Given the description of an element on the screen output the (x, y) to click on. 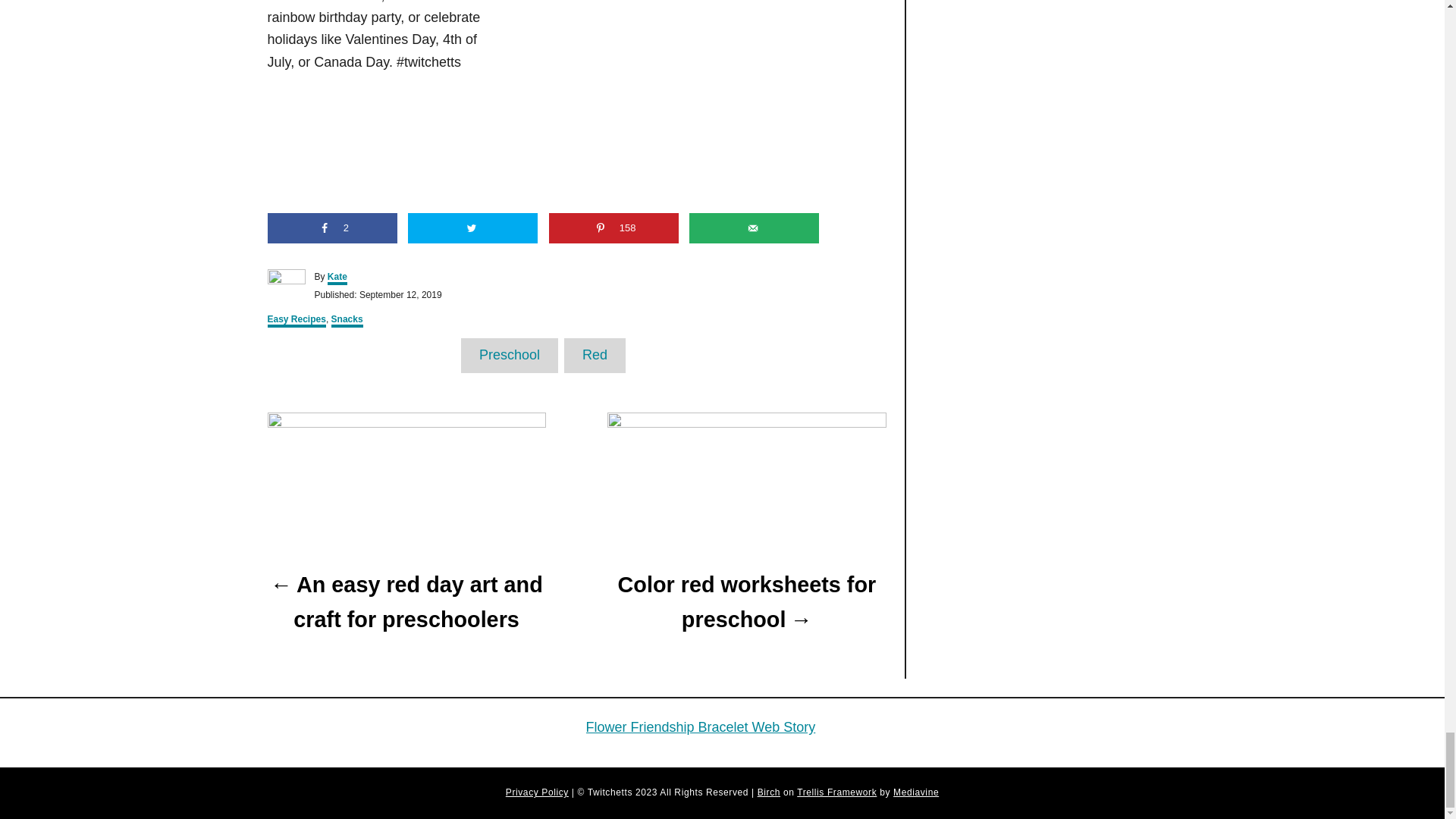
158 (613, 227)
Save to Pinterest (613, 227)
Preschool (509, 355)
Share on Facebook (331, 227)
Color red worksheets for preschool (746, 602)
Flower Friendship Bracelet Web Story (700, 726)
Easy Recipes (295, 320)
An easy red day art and craft for preschoolers (405, 602)
Snacks (346, 320)
Privacy Policy (537, 792)
